Given the description of an element on the screen output the (x, y) to click on. 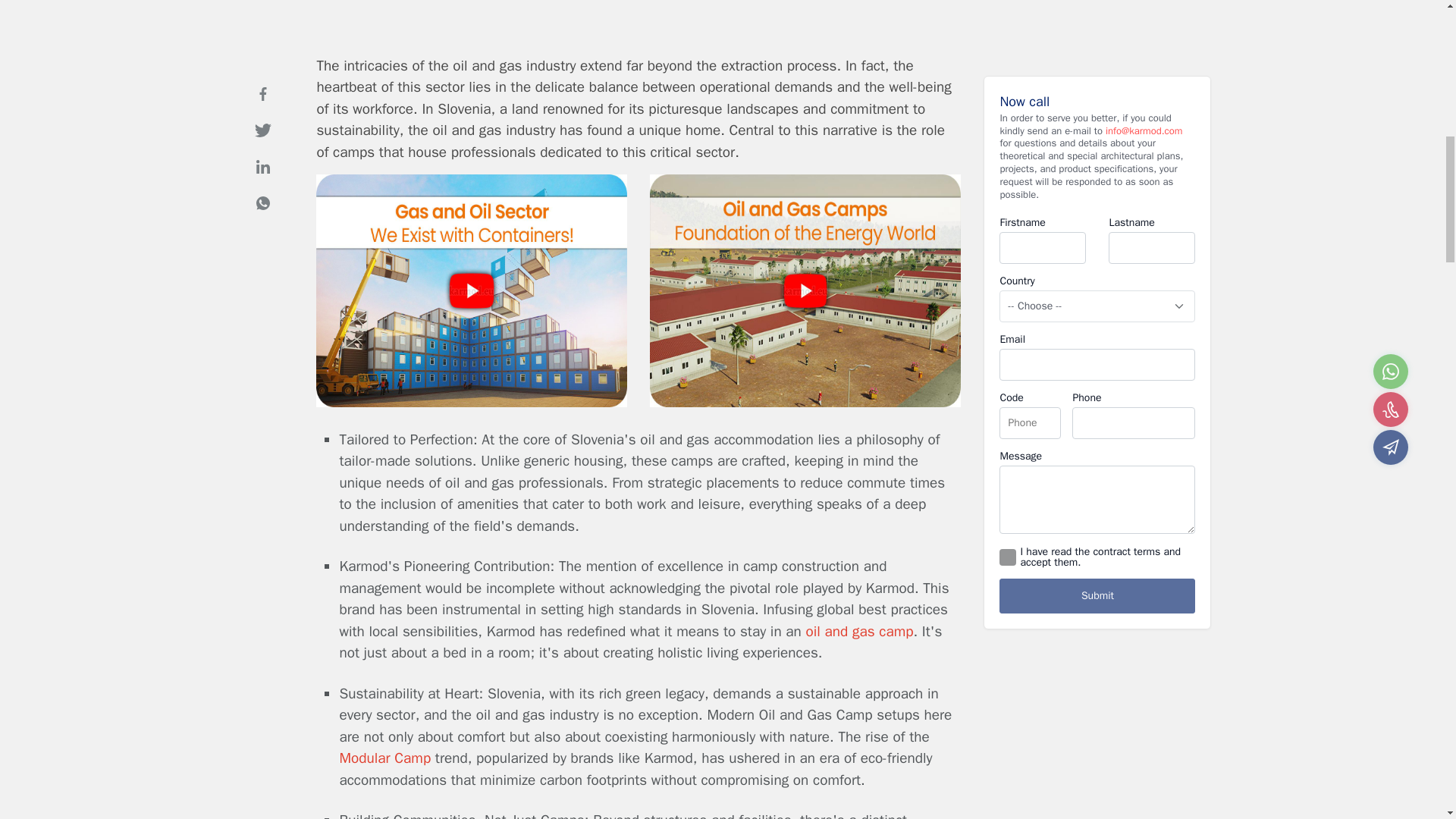
Facebook (262, 73)
Twitter (262, 110)
Modular Camp (384, 758)
on (1007, 536)
Slovenia Oil and Gas Camps (471, 402)
Slovenia Oil and Gas Camps (804, 402)
Linkedin (262, 146)
oil and gas camp (860, 631)
Whatsapp (262, 182)
